Given the description of an element on the screen output the (x, y) to click on. 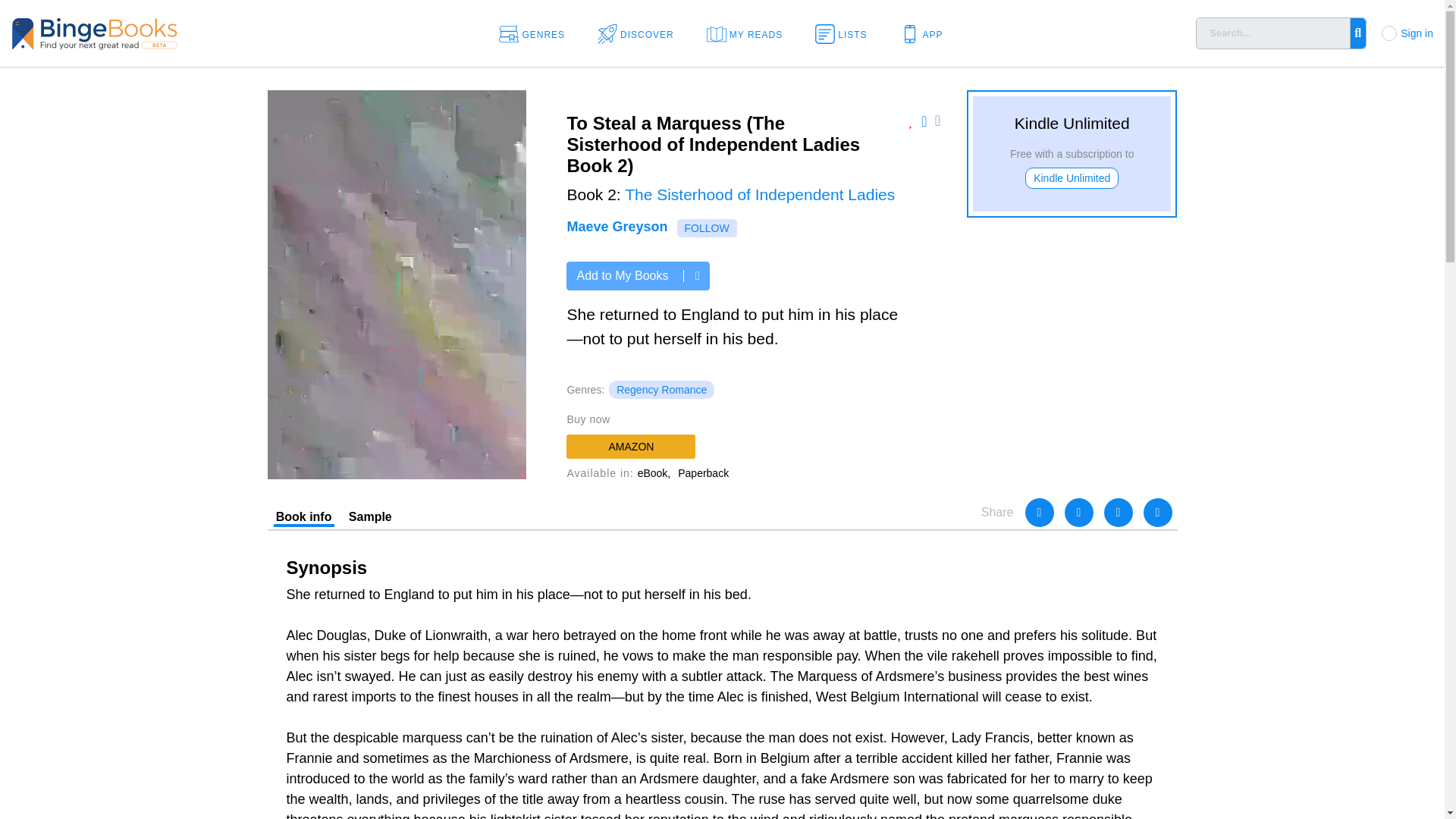
FOLLOW (706, 228)
Discover (640, 33)
GENRES (537, 33)
Find your next great read (144, 32)
Kindle Unlimited (1071, 178)
The Sisterhood of Independent Ladies (759, 194)
Regency Romance (661, 389)
AMAZON (630, 446)
Add to My Books (637, 275)
Genres (537, 33)
DISCOVER (640, 33)
LISTS (845, 33)
Sign in (1416, 33)
MY READS (749, 33)
My reads (749, 33)
